Given the description of an element on the screen output the (x, y) to click on. 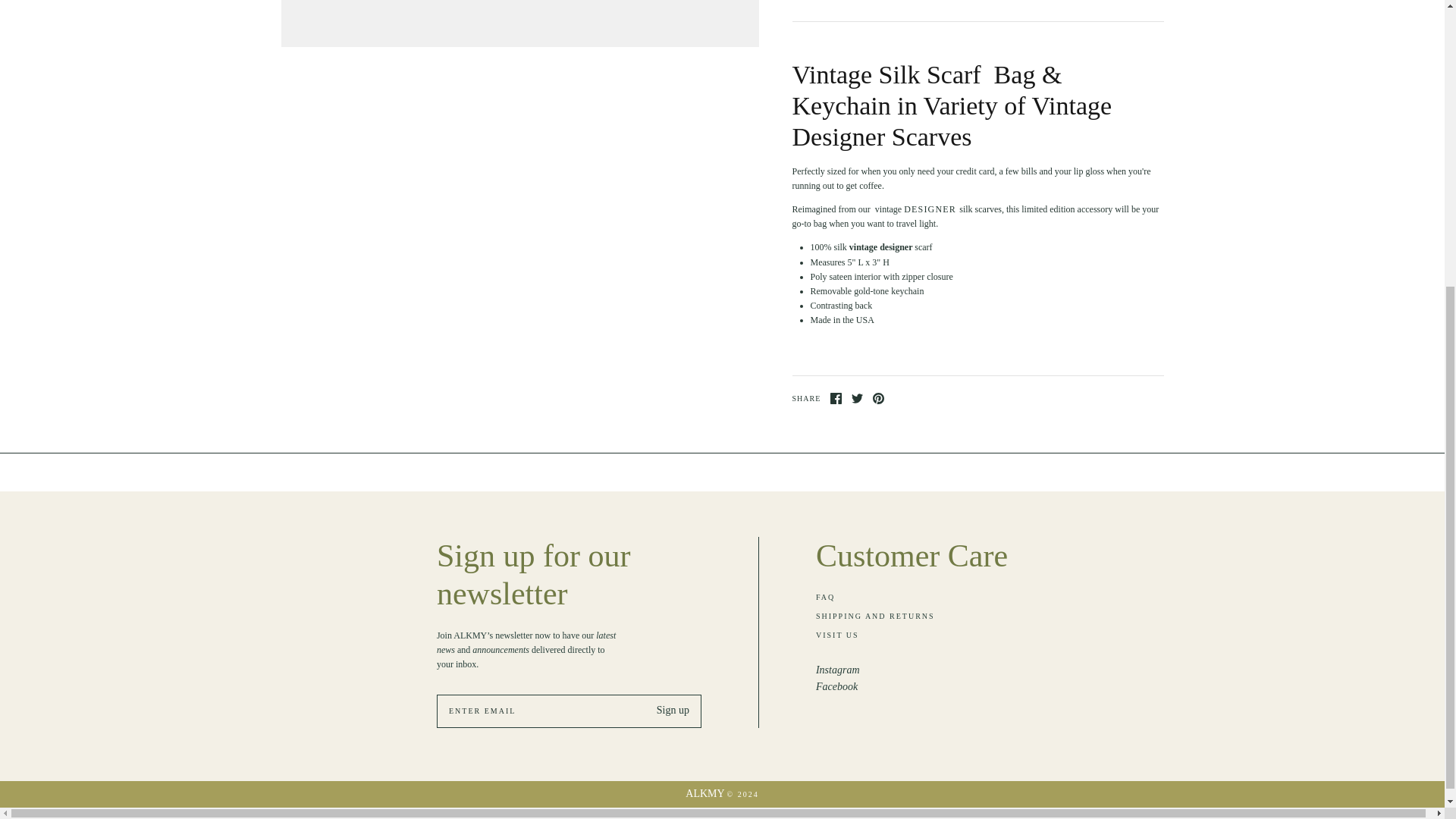
Twitter (857, 398)
Pinterest (877, 398)
Facebook (835, 398)
